Given the description of an element on the screen output the (x, y) to click on. 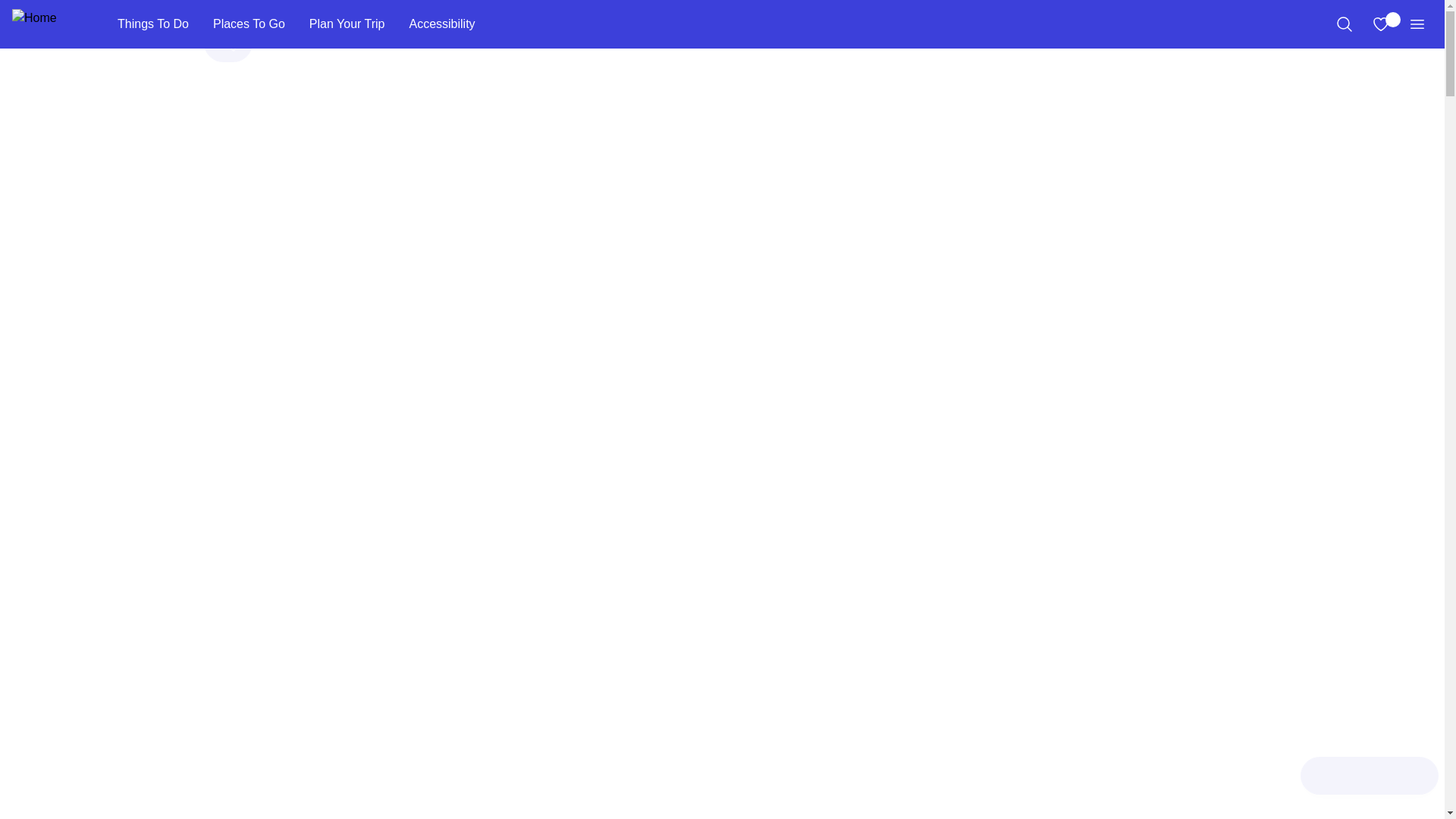
Menu (1417, 24)
View My Favorites (1380, 24)
Things To Do (152, 24)
Search the Site (1344, 24)
Accessibility (441, 24)
Places To Go (248, 24)
Plan Your Trip (347, 24)
